Given the description of an element on the screen output the (x, y) to click on. 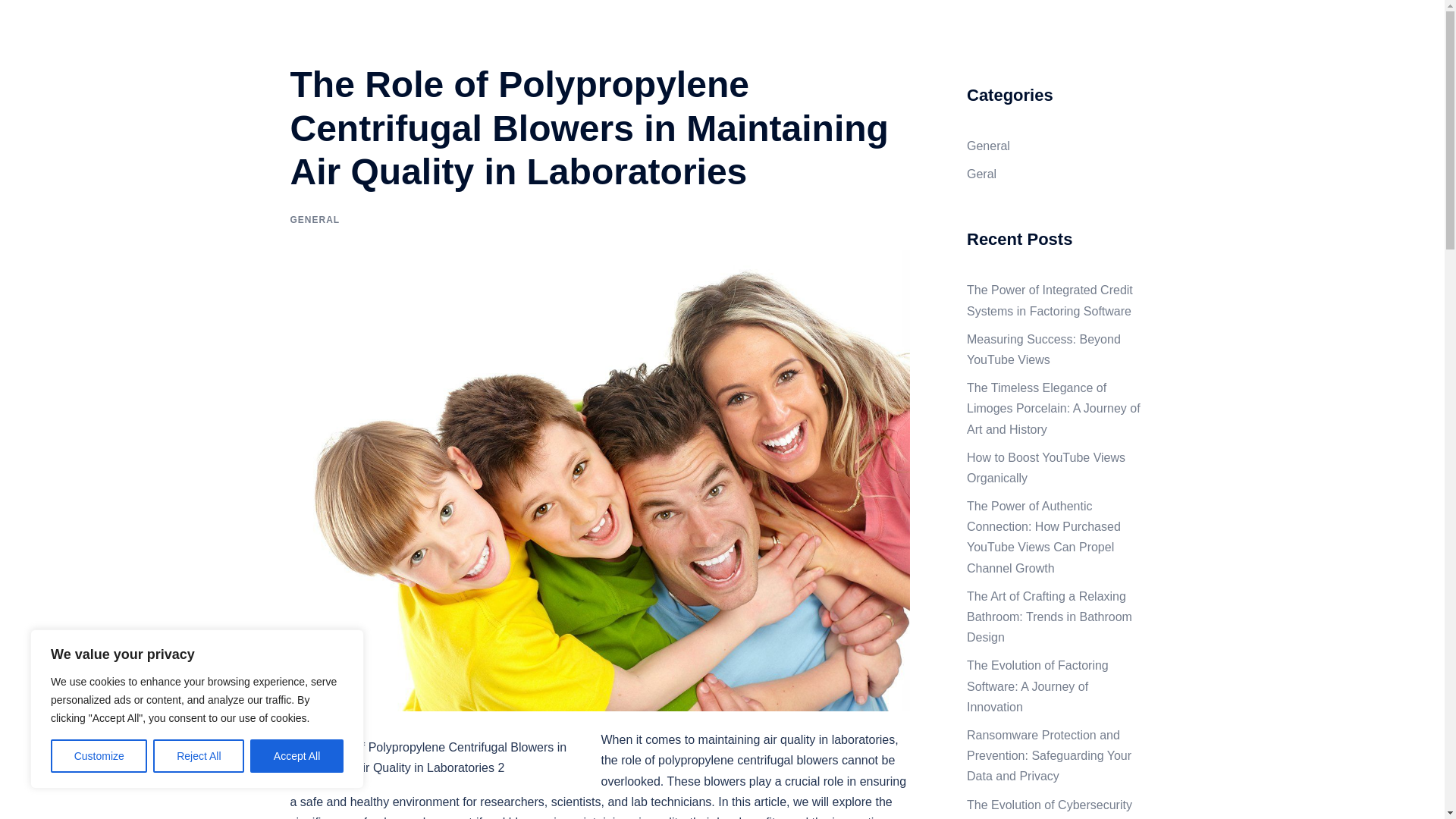
Geral (980, 173)
The Power of Integrated Credit Systems in Factoring Software (1049, 299)
Home (1070, 38)
How to Boost YouTube Views Organically (1045, 467)
General (1125, 38)
Accept All (296, 756)
Reject All (198, 756)
The Evolution of Factoring Software: A Journey of Innovation (1037, 685)
Ururbu River (363, 29)
Customize (98, 756)
GENERAL (314, 219)
General (988, 145)
